Given the description of an element on the screen output the (x, y) to click on. 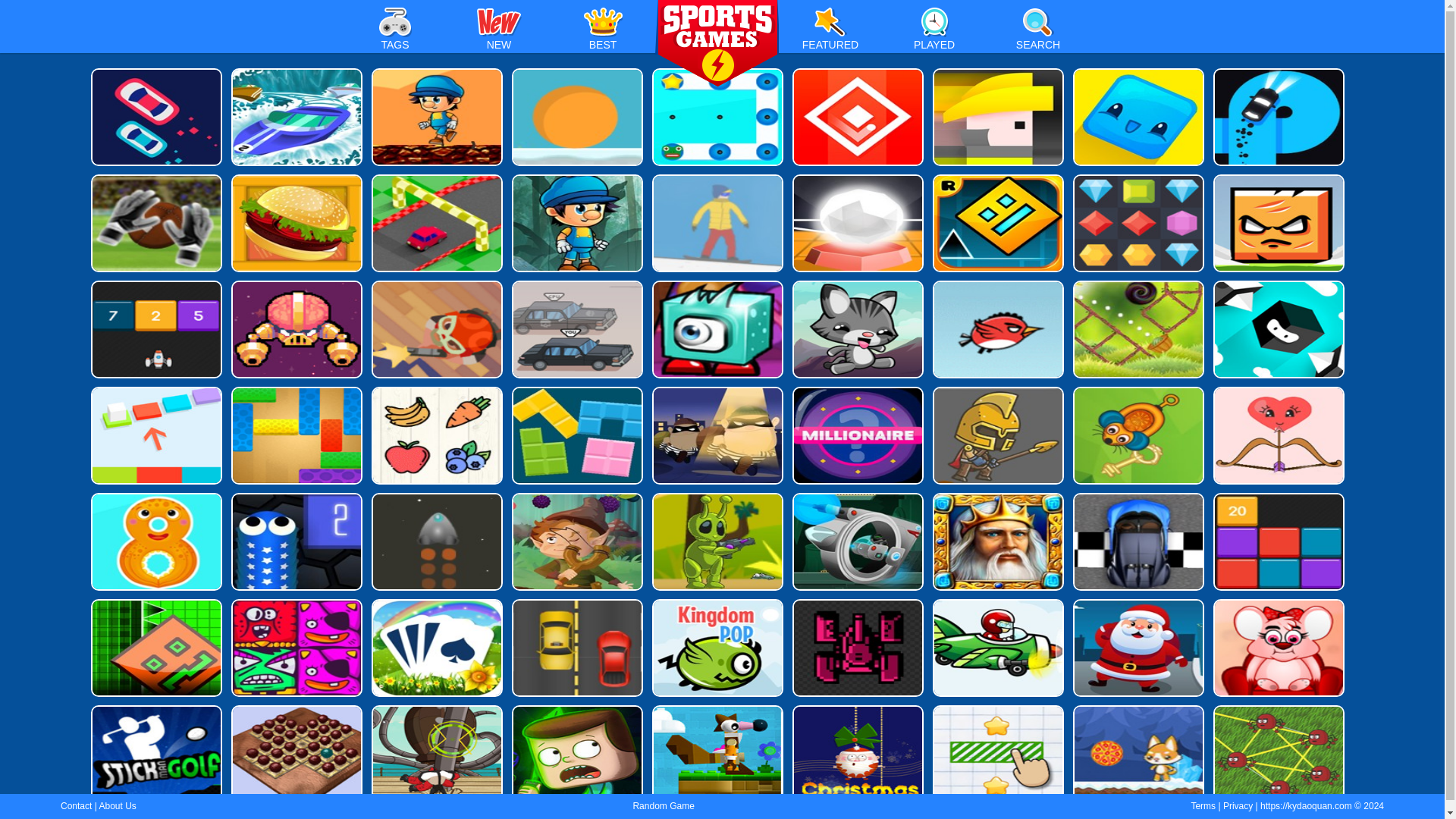
NEW (498, 33)
BEST (601, 33)
SEARCH (1037, 33)
TAGS (394, 33)
PLAYED (934, 33)
FEATURED (829, 33)
PLAY BEST FREE GAMES ONLINE (716, 43)
